Given the description of an element on the screen output the (x, y) to click on. 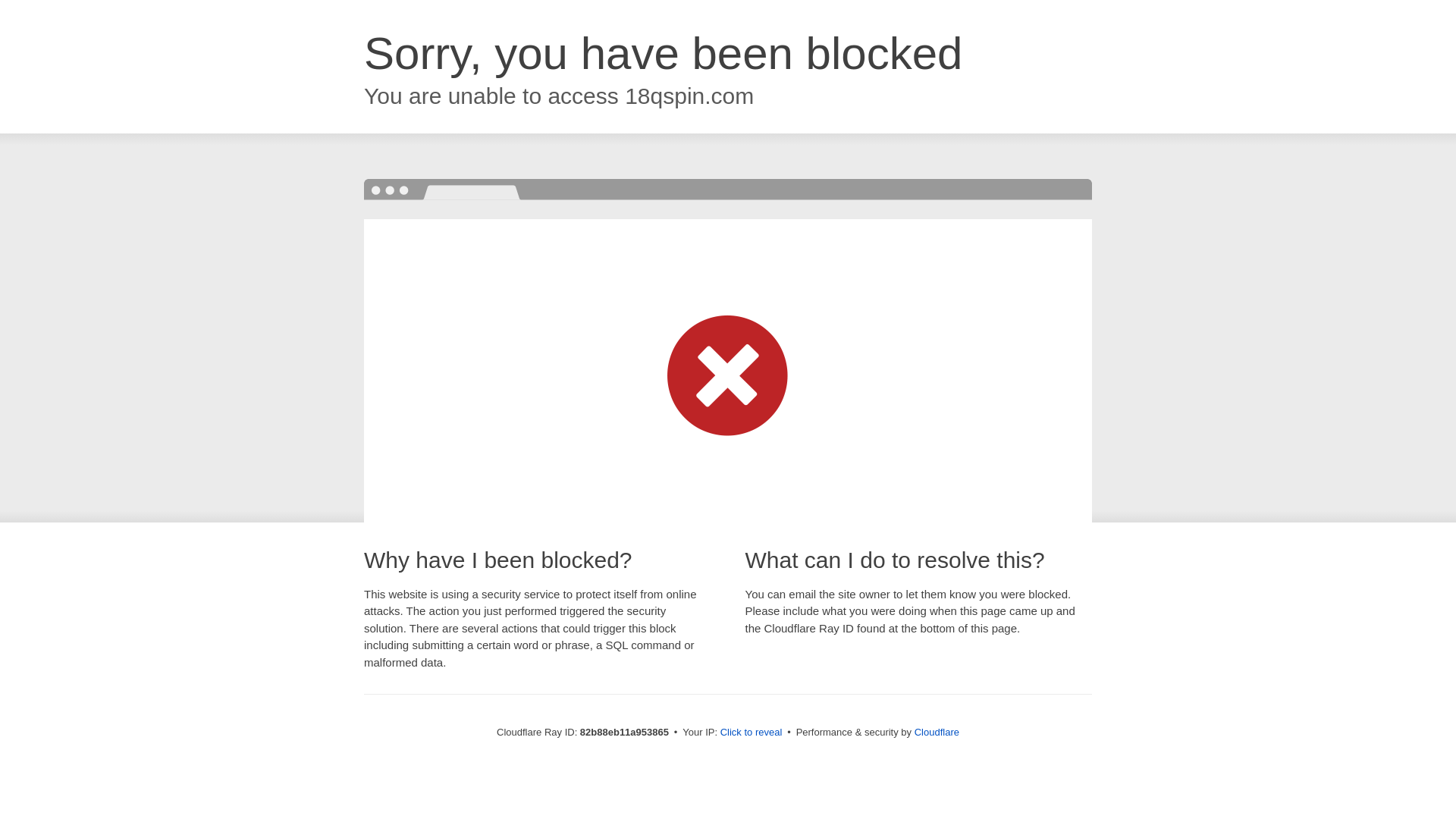
Click to reveal Element type: text (751, 732)
Cloudflare Element type: text (936, 731)
